Given the description of an element on the screen output the (x, y) to click on. 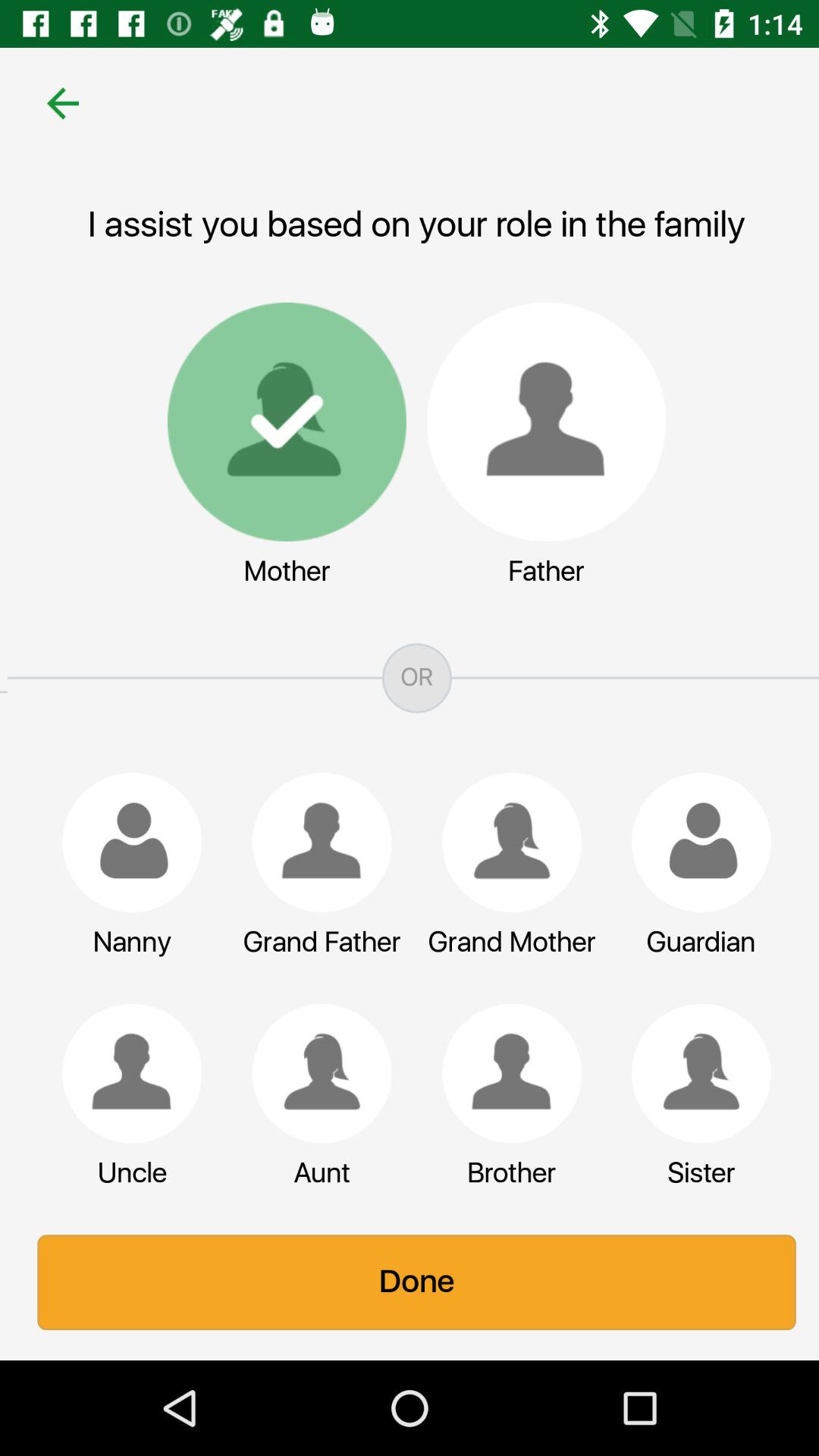
select father (538, 421)
